Given the description of an element on the screen output the (x, y) to click on. 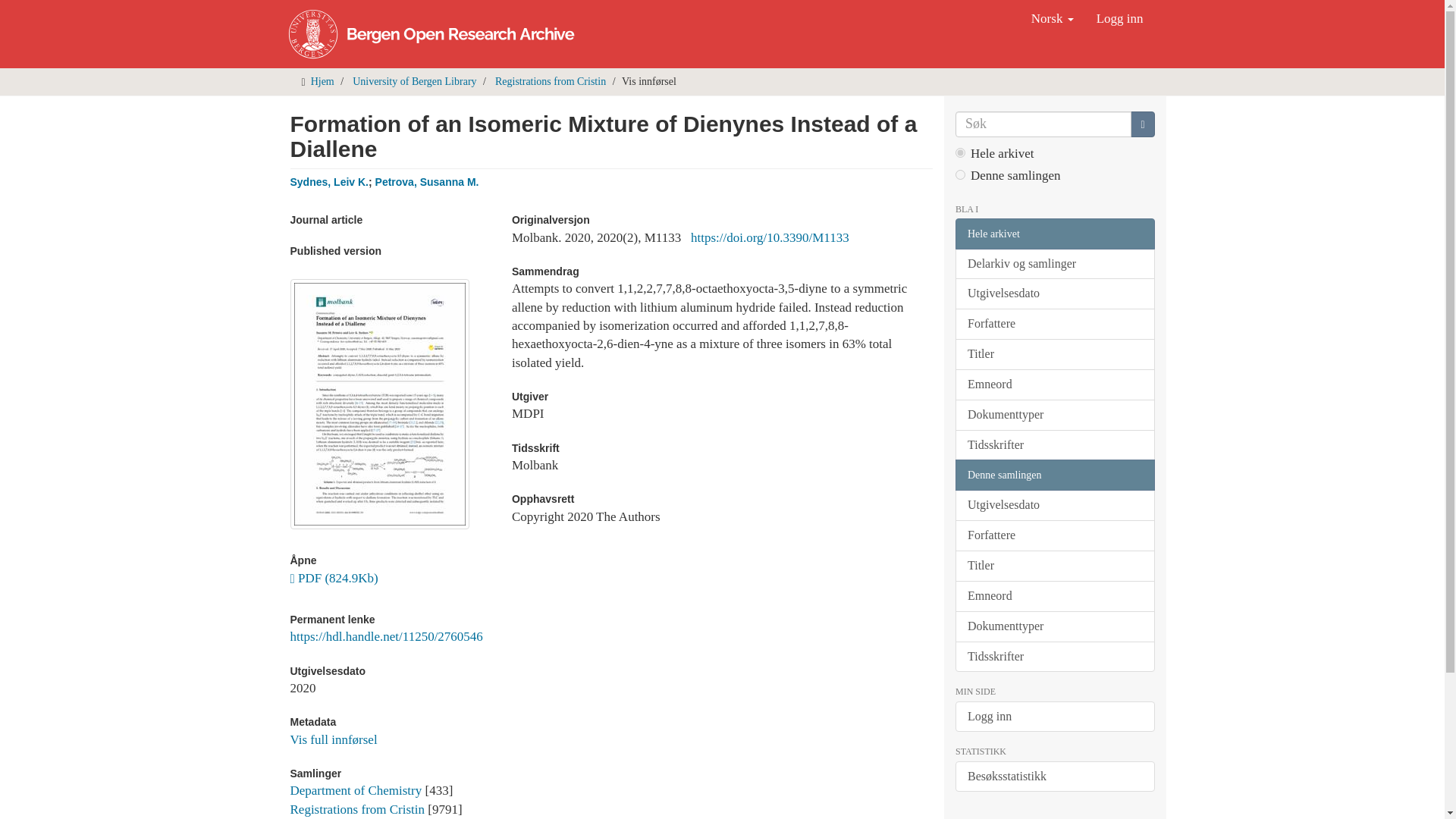
Logg inn (1119, 18)
Sydnes, Leiv K. (328, 182)
Delarkiv og samlinger (1054, 264)
Hele arkivet (1054, 233)
Registrations from Cristin (550, 81)
Registrations from Cristin (357, 809)
Norsk  (1052, 18)
Petrova, Susanna M. (427, 182)
Forfattere (1054, 323)
University of Bergen Library (414, 81)
Utgivelsesdato (1054, 293)
Hjem (322, 81)
Department of Chemistry (355, 789)
